Given the description of an element on the screen output the (x, y) to click on. 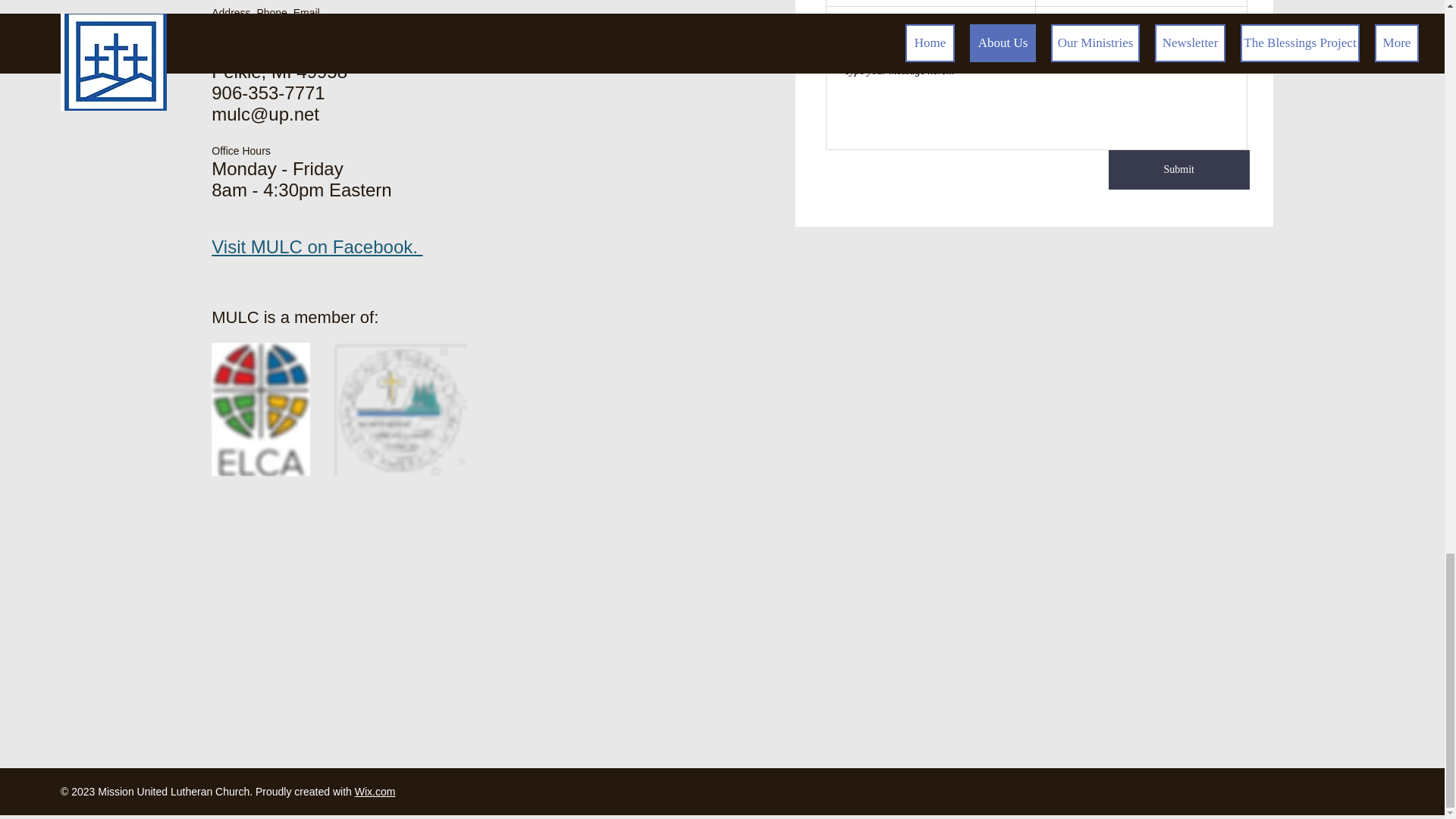
Visit MULC on Facebook.  (316, 246)
Wix.com (375, 791)
Submit (1178, 169)
